Given the description of an element on the screen output the (x, y) to click on. 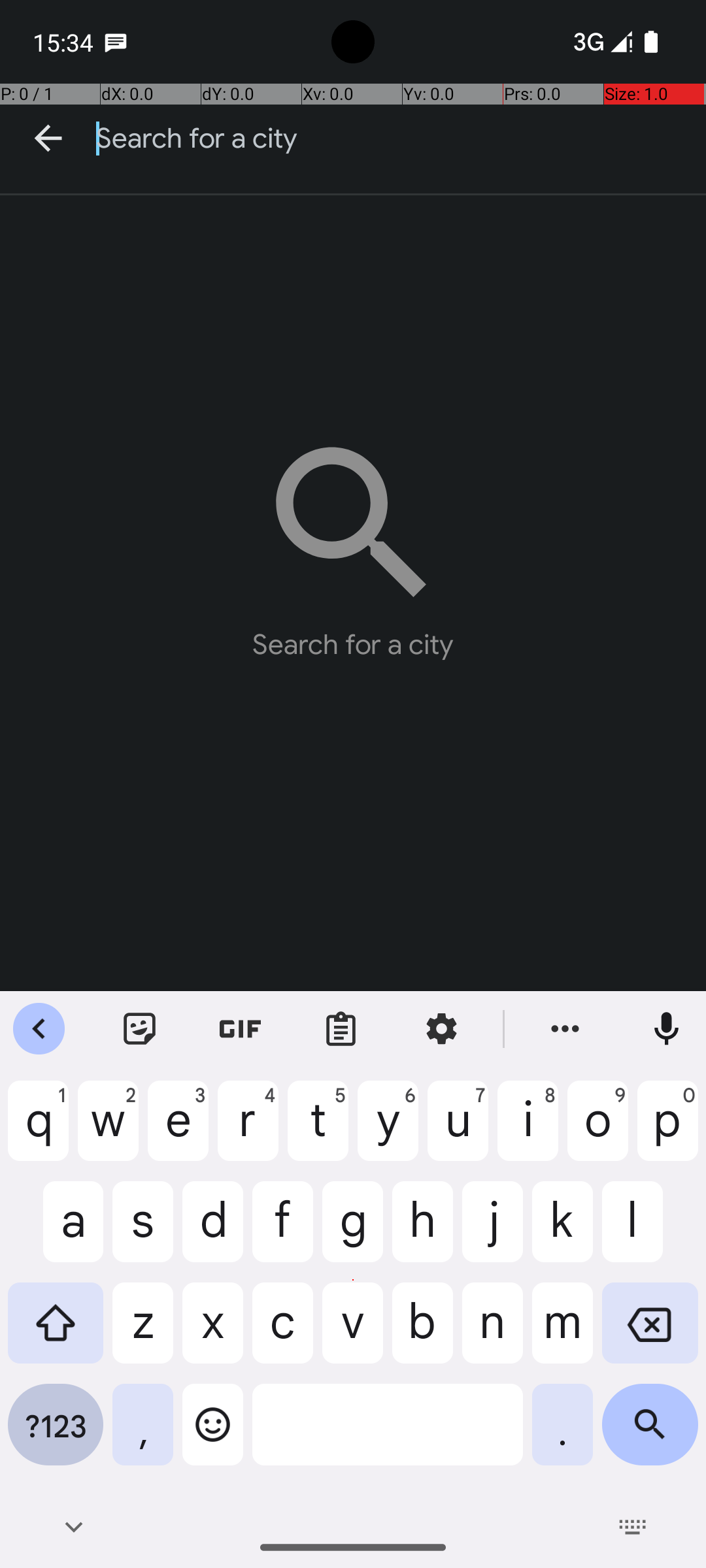
Back Element type: android.widget.ImageButton (48, 138)
Search for a city Element type: android.widget.EditText (401, 138)
Switch input method Element type: android.widget.ImageView (632, 1526)
Close features menu Element type: android.widget.FrameLayout (39, 1028)
Sticker Keyboard Element type: android.widget.FrameLayout (139, 1028)
GIF Keyboard Element type: android.widget.FrameLayout (240, 1028)
Clipboard Element type: android.widget.FrameLayout (340, 1028)
More features Element type: android.widget.FrameLayout (565, 1028)
Voice input Element type: android.widget.FrameLayout (666, 1028)
q Element type: android.widget.FrameLayout (38, 1130)
w Element type: android.widget.FrameLayout (108, 1130)
e Element type: android.widget.FrameLayout (178, 1130)
r Element type: android.widget.FrameLayout (248, 1130)
t Element type: android.widget.FrameLayout (318, 1130)
y Element type: android.widget.FrameLayout (387, 1130)
u Element type: android.widget.FrameLayout (457, 1130)
i Element type: android.widget.FrameLayout (527, 1130)
o Element type: android.widget.FrameLayout (597, 1130)
p Element type: android.widget.FrameLayout (667, 1130)
a Element type: android.widget.FrameLayout (55, 1231)
s Element type: android.widget.FrameLayout (142, 1231)
d Element type: android.widget.FrameLayout (212, 1231)
f Element type: android.widget.FrameLayout (282, 1231)
g Element type: android.widget.FrameLayout (352, 1231)
h Element type: android.widget.FrameLayout (422, 1231)
j Element type: android.widget.FrameLayout (492, 1231)
k Element type: android.widget.FrameLayout (562, 1231)
l Element type: android.widget.FrameLayout (649, 1231)
Shift Element type: android.widget.FrameLayout (55, 1332)
z Element type: android.widget.FrameLayout (142, 1332)
x Element type: android.widget.FrameLayout (212, 1332)
c Element type: android.widget.FrameLayout (282, 1332)
v Element type: android.widget.FrameLayout (352, 1332)
b Element type: android.widget.FrameLayout (422, 1332)
n Element type: android.widget.FrameLayout (492, 1332)
m Element type: android.widget.FrameLayout (562, 1332)
Symbol keyboard Element type: android.widget.FrameLayout (55, 1434)
, Element type: android.widget.FrameLayout (142, 1434)
Emoji button Element type: android.widget.FrameLayout (212, 1434)
Space Element type: android.widget.FrameLayout (387, 1434)
. Element type: android.widget.FrameLayout (562, 1434)
